Given the description of an element on the screen output the (x, y) to click on. 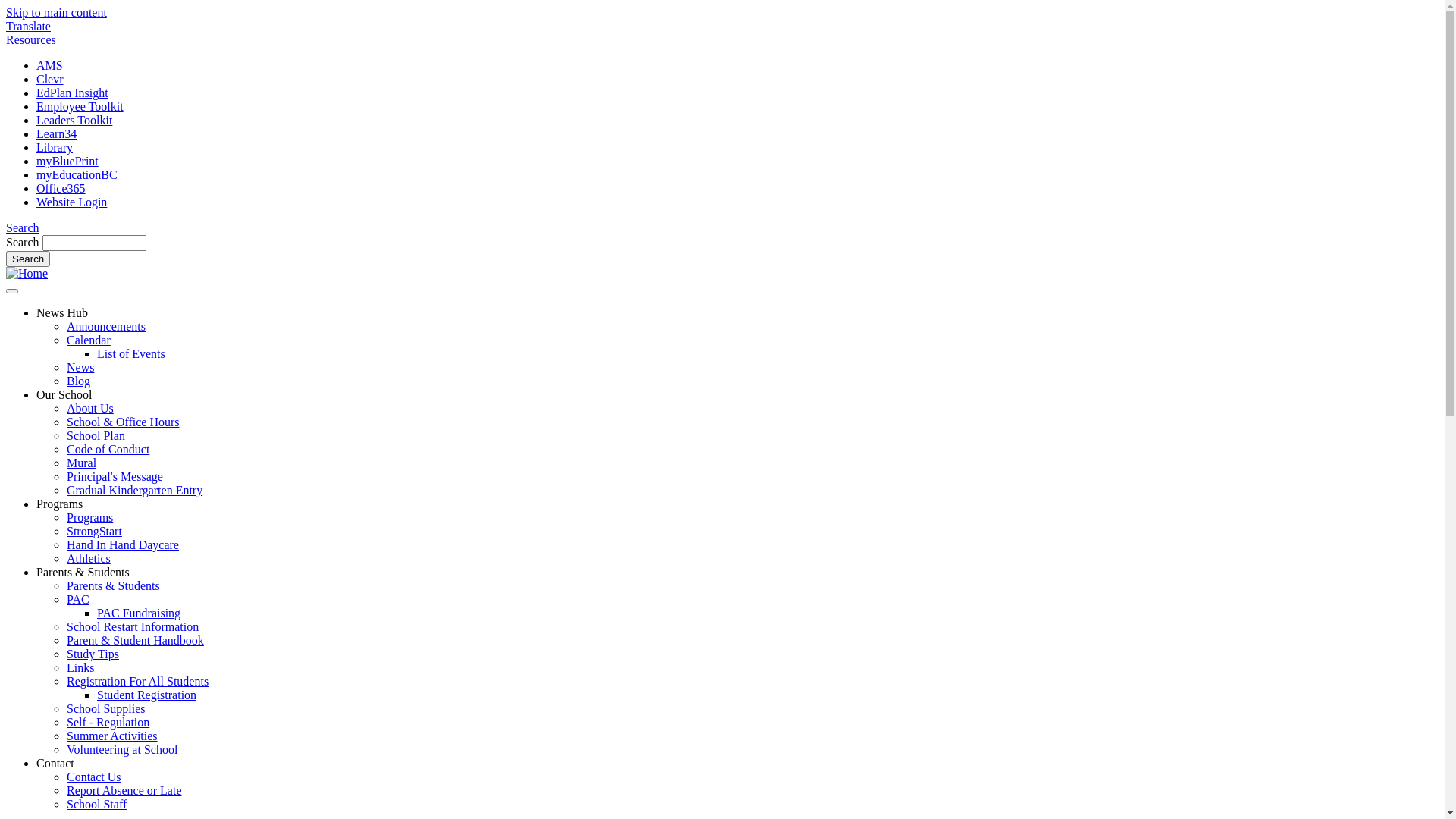
Home Element type: hover (26, 272)
List of Events Element type: text (131, 353)
Contact Us Element type: text (93, 776)
Principal's Message Element type: text (114, 476)
Volunteering at School Element type: text (121, 749)
Programs Element type: text (89, 517)
myBluePrint Element type: text (67, 160)
Study Tips Element type: text (92, 653)
School & Office Hours Element type: text (122, 421)
Self - Regulation Element type: text (107, 721)
AMS Element type: text (49, 65)
School Staff Element type: text (96, 803)
About Us Element type: text (89, 407)
Website Login Element type: text (71, 201)
Library Element type: text (54, 147)
Employee Toolkit Element type: text (79, 106)
School Supplies Element type: text (105, 708)
EdPlan Insight Element type: text (72, 92)
Office365 Element type: text (60, 188)
School Plan Element type: text (95, 435)
Code of Conduct Element type: text (107, 448)
Mural Element type: text (81, 462)
Announcements Element type: text (105, 326)
Gradual Kindergarten Entry Element type: text (134, 489)
School Restart Information Element type: text (132, 626)
Search Element type: text (22, 227)
Student Registration Element type: text (146, 694)
Links Element type: text (80, 667)
Hand In Hand Daycare Element type: text (122, 544)
Athletics Element type: text (88, 558)
Parent & Student Handbook Element type: text (134, 639)
Blog Element type: text (78, 380)
Calendar Element type: text (88, 339)
News Element type: text (80, 366)
myEducationBC Element type: text (76, 174)
Clevr Element type: text (49, 78)
PAC Element type: text (77, 599)
PAC Fundraising Element type: text (138, 612)
Search Element type: text (28, 258)
Translate Element type: text (28, 25)
StrongStart Element type: text (94, 530)
Leaders Toolkit Element type: text (74, 119)
Parents & Students Element type: text (113, 585)
Report Absence or Late Element type: text (124, 790)
Skip to main content Element type: text (56, 12)
Summer Activities Element type: text (111, 735)
Enter the terms you wish to search for. Element type: hover (94, 243)
Learn34 Element type: text (56, 133)
Resources Element type: text (31, 39)
Registration For All Students Element type: text (137, 680)
